Given the description of an element on the screen output the (x, y) to click on. 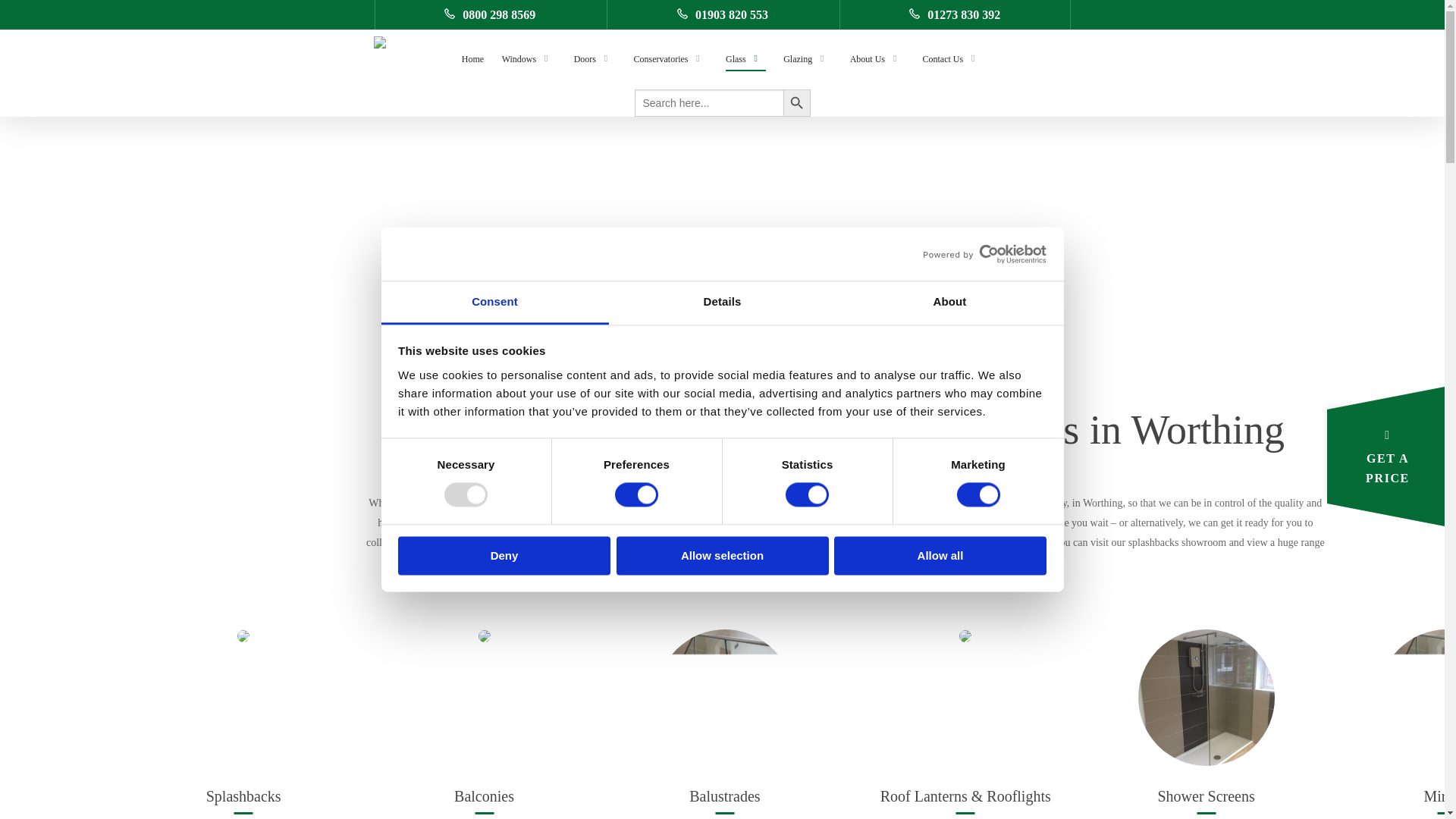
Allow all (940, 555)
Allow selection (721, 555)
01903 820 553 (722, 14)
Details (721, 302)
Consent (494, 302)
01273 830 392 (955, 14)
0800 298 8569 (489, 14)
Deny (503, 555)
About (948, 302)
